Given the description of an element on the screen output the (x, y) to click on. 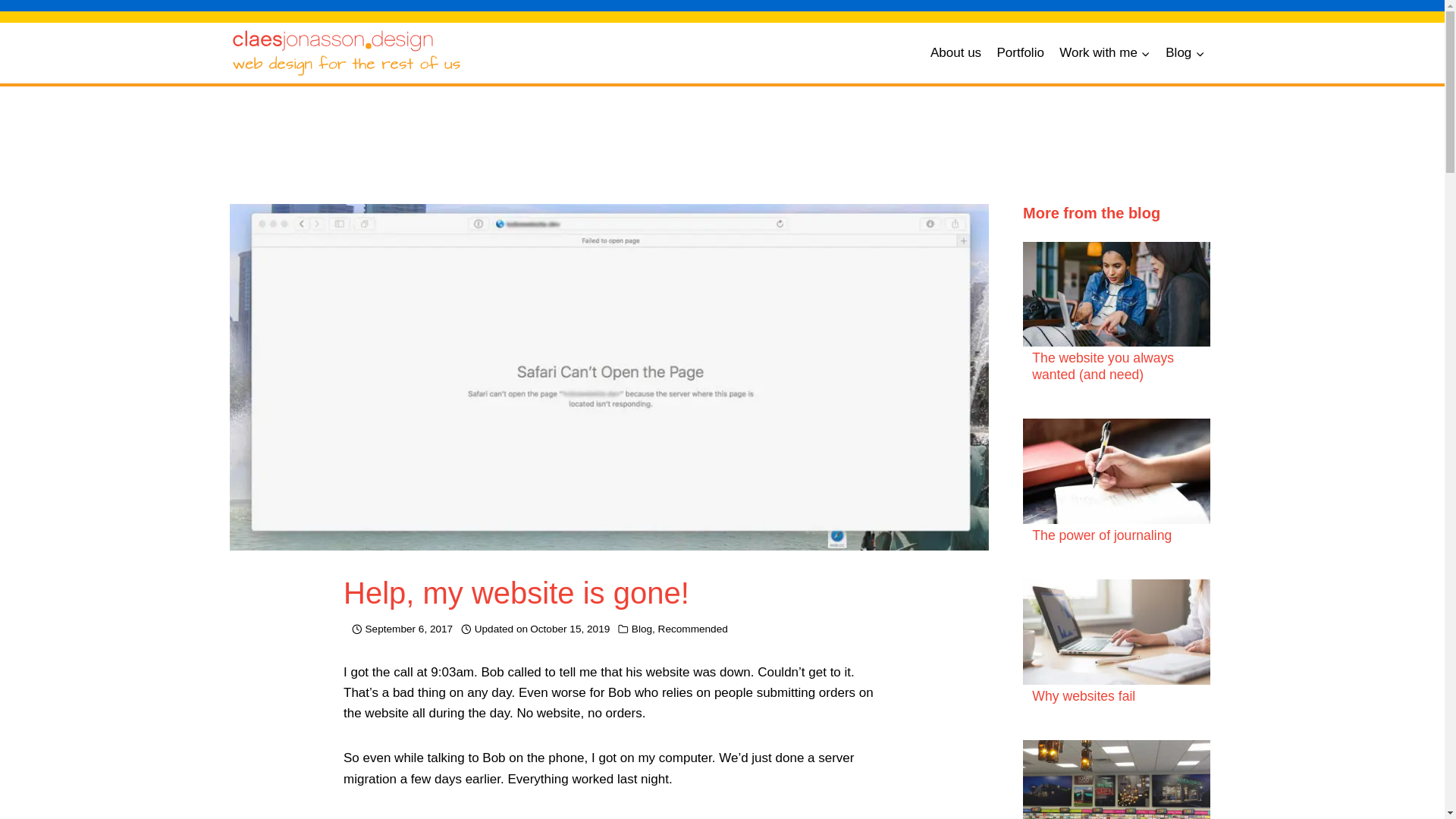
Portfolio (1019, 53)
Why websites fail (1083, 695)
Recommended (693, 628)
Blog (641, 628)
Blog (1184, 53)
The power of journaling (1102, 534)
About us (955, 53)
Work with me (1104, 53)
